Given the description of an element on the screen output the (x, y) to click on. 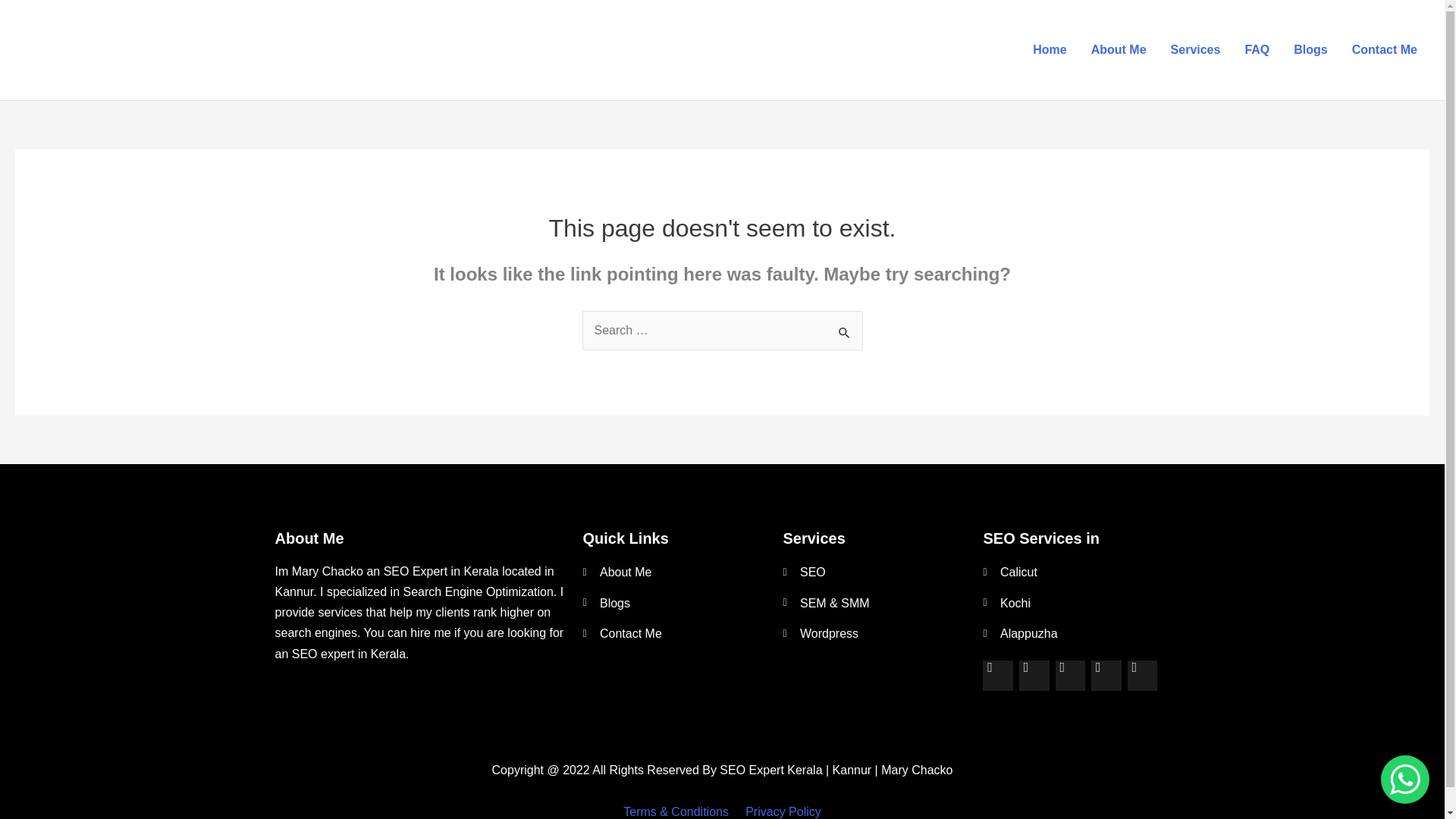
Contact Me (1384, 49)
Calicut (1074, 572)
Blogs (674, 603)
Privacy Policy (783, 811)
Services (1195, 49)
Blogs (1310, 49)
About Me (1118, 49)
Home (1049, 49)
About Me (674, 572)
Contact Me (674, 633)
